Given the description of an element on the screen output the (x, y) to click on. 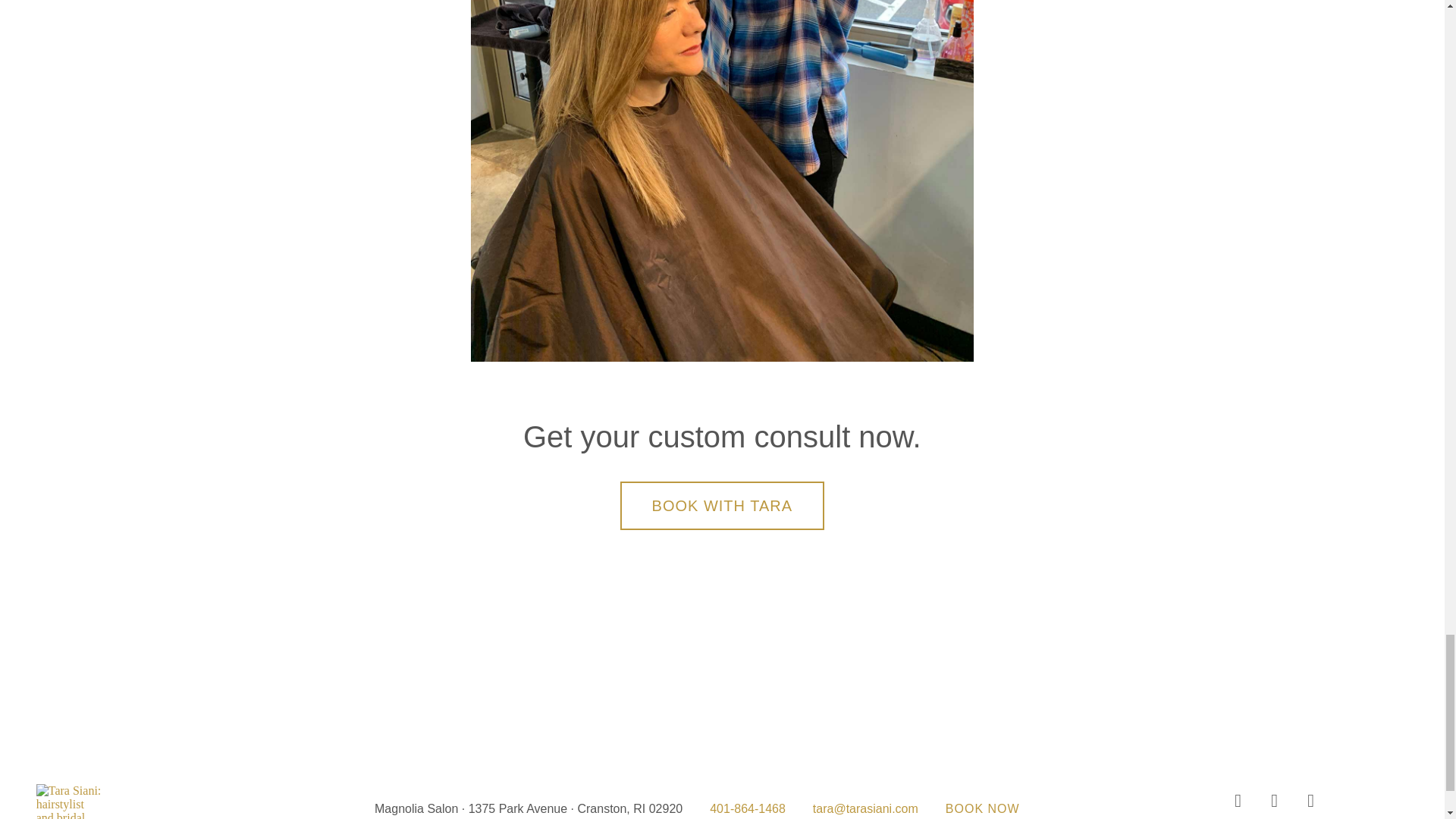
401-864-1468 (748, 808)
BOOK NOW (982, 808)
BOOK WITH TARA (722, 505)
